Given the description of an element on the screen output the (x, y) to click on. 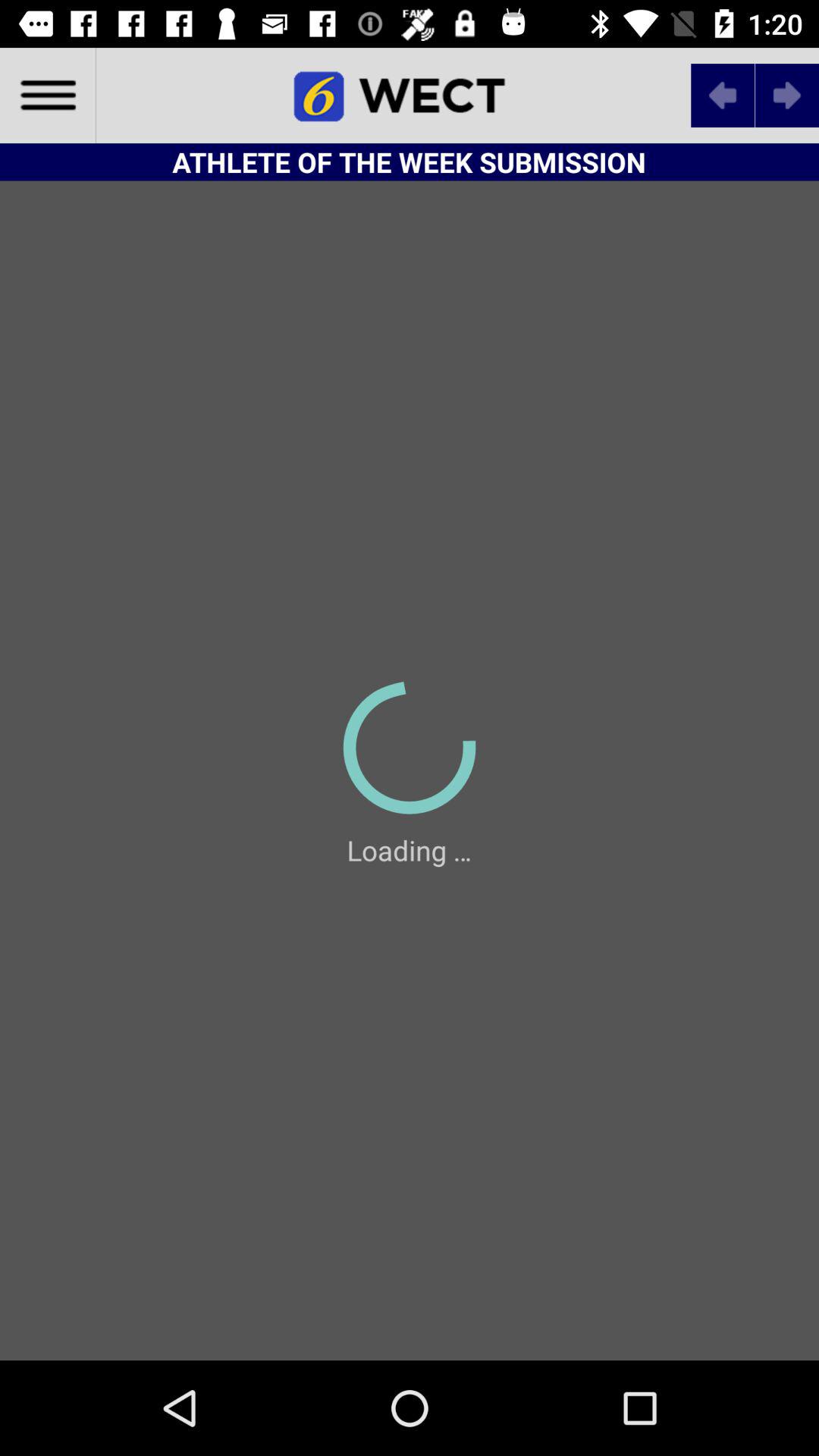
click on next symbol (787, 95)
